Given the description of an element on the screen output the (x, y) to click on. 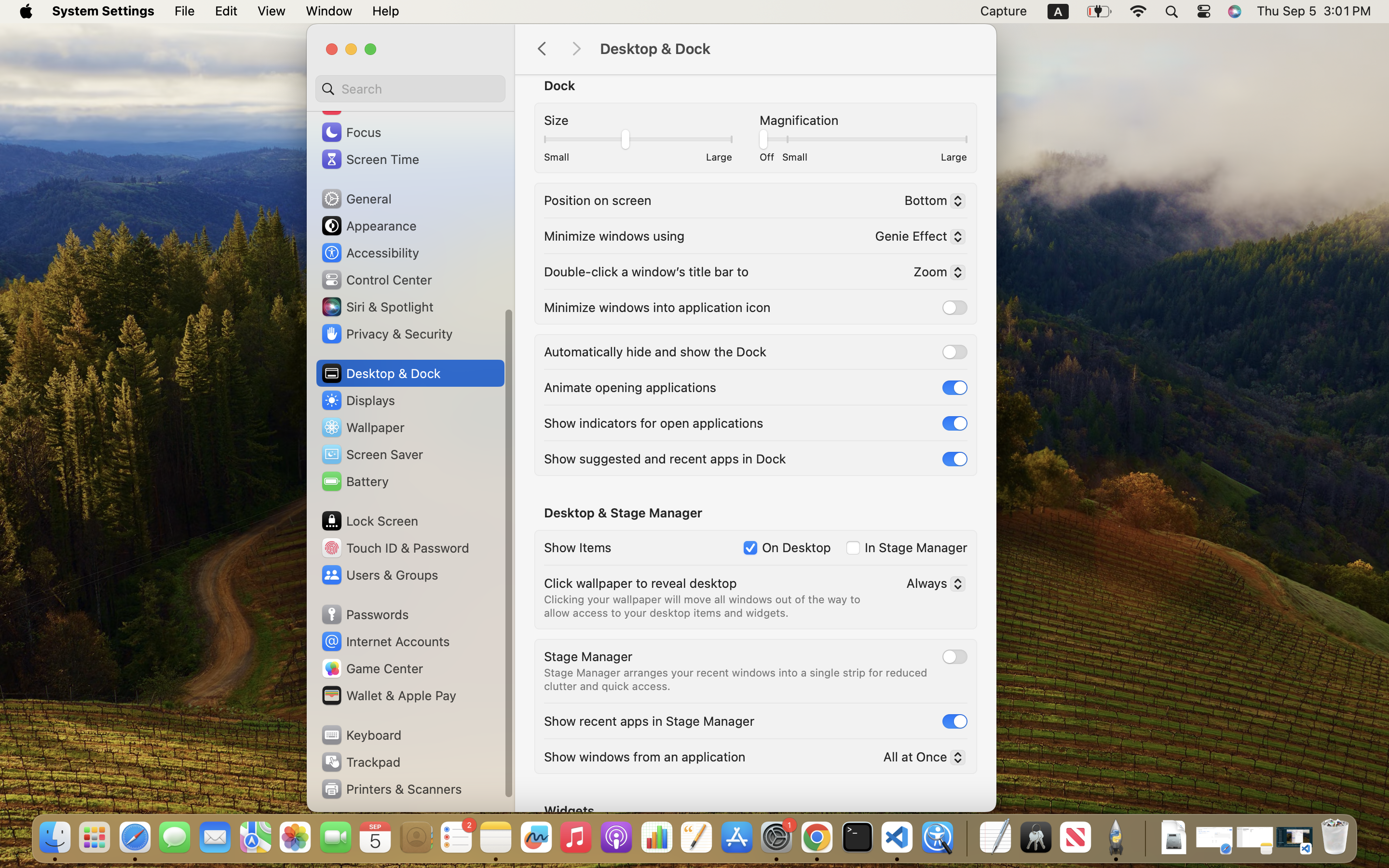
Genie Effect Element type: AXPopUpButton (916, 237)
Appearance Element type: AXStaticText (368, 225)
Show indicators for open applications Element type: AXStaticText (653, 422)
Stage Manager arranges your recent windows into a single strip for reduced clutter and quick access. Element type: AXStaticText (737, 678)
Battery Element type: AXStaticText (354, 480)
